Given the description of an element on the screen output the (x, y) to click on. 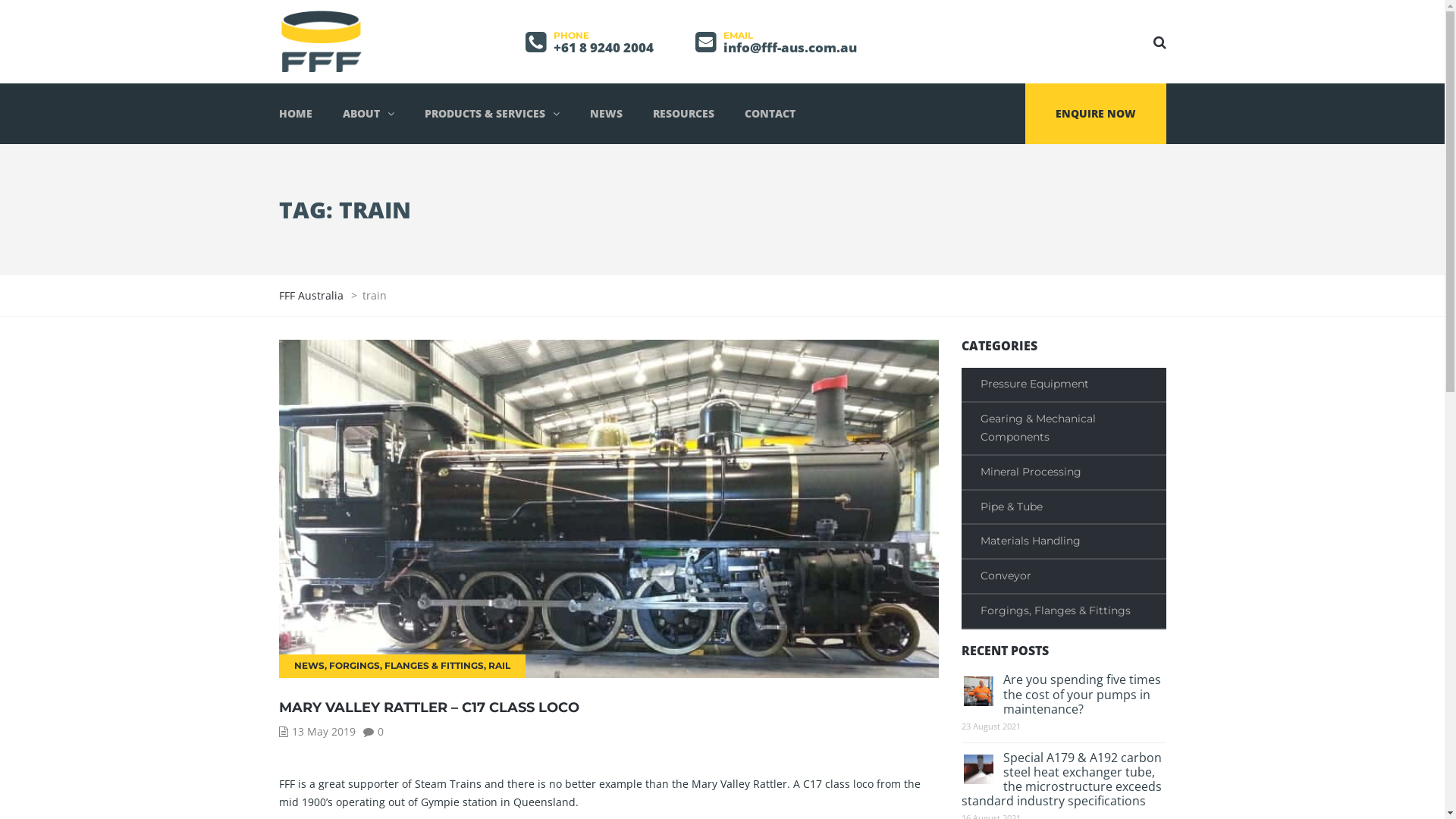
RAIL Element type: text (499, 665)
NEWS Element type: text (309, 665)
ENQUIRE NOW Element type: text (1095, 113)
FFF Australia Element type: text (312, 295)
HOME Element type: text (303, 113)
Forgings, Flanges & Fittings Element type: text (1063, 611)
NEWS Element type: text (605, 113)
Mineral Processing Element type: text (1063, 472)
Pipe & Tube Element type: text (1063, 507)
info@fff-aus.com.au Element type: text (789, 46)
CONTACT Element type: text (769, 113)
FORGINGS, FLANGES & FITTINGS Element type: text (406, 665)
Materials Handling Element type: text (1063, 541)
+61 8 9240 2004 Element type: text (603, 46)
Conveyor Element type: text (1063, 576)
Gearing & Mechanical Components Element type: text (1063, 428)
13 May 2019 Element type: text (322, 731)
Pressure Equipment Element type: text (1063, 384)
RESOURCES Element type: text (682, 113)
PRODUCTS & SERVICES Element type: text (491, 113)
ABOUT Element type: text (368, 113)
